Given the description of an element on the screen output the (x, y) to click on. 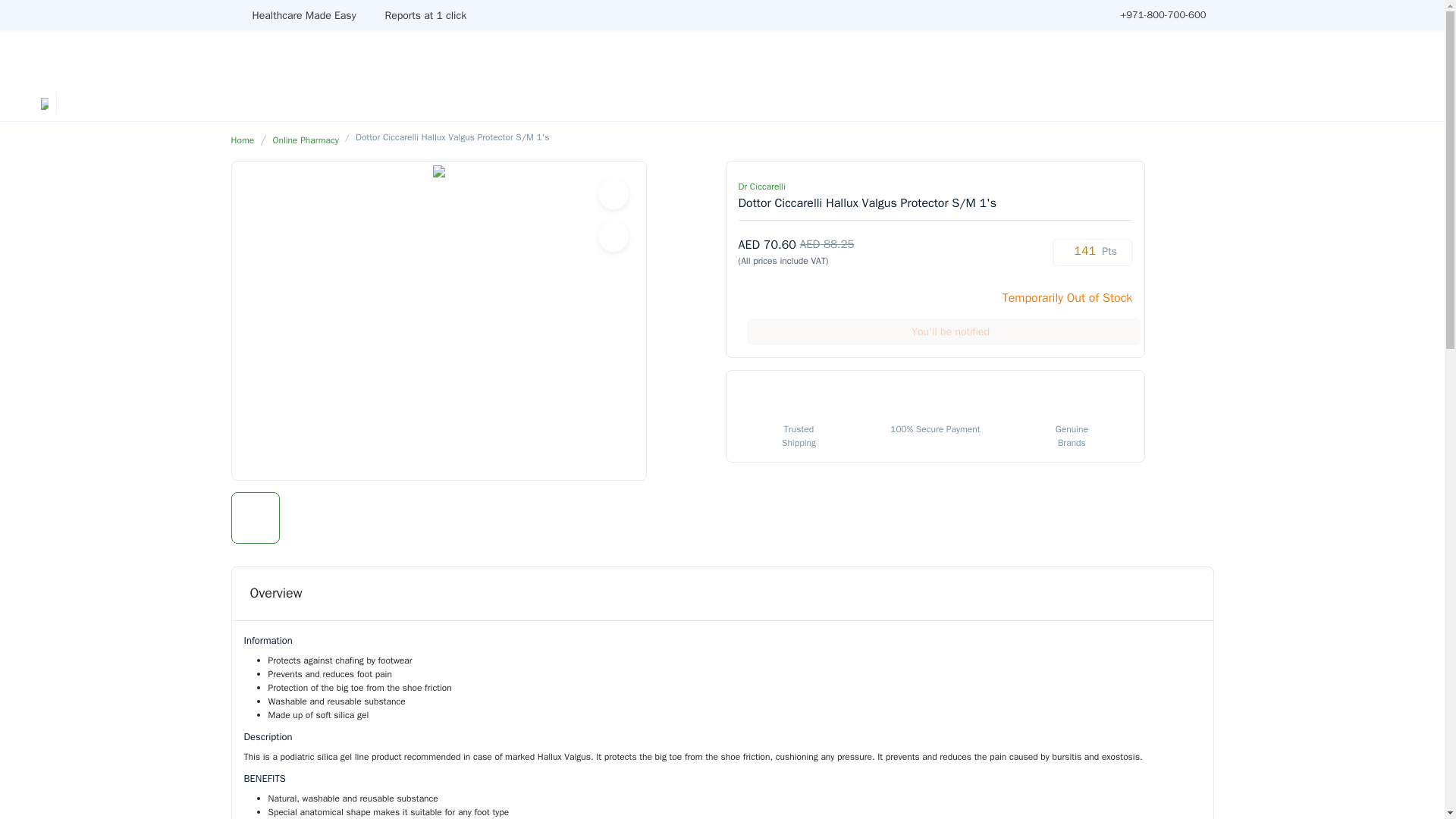
You'll be notified (944, 331)
Online Pharmacy (306, 140)
Home (241, 140)
Overview (276, 592)
Dr Ciccarelli (762, 186)
